Given the description of an element on the screen output the (x, y) to click on. 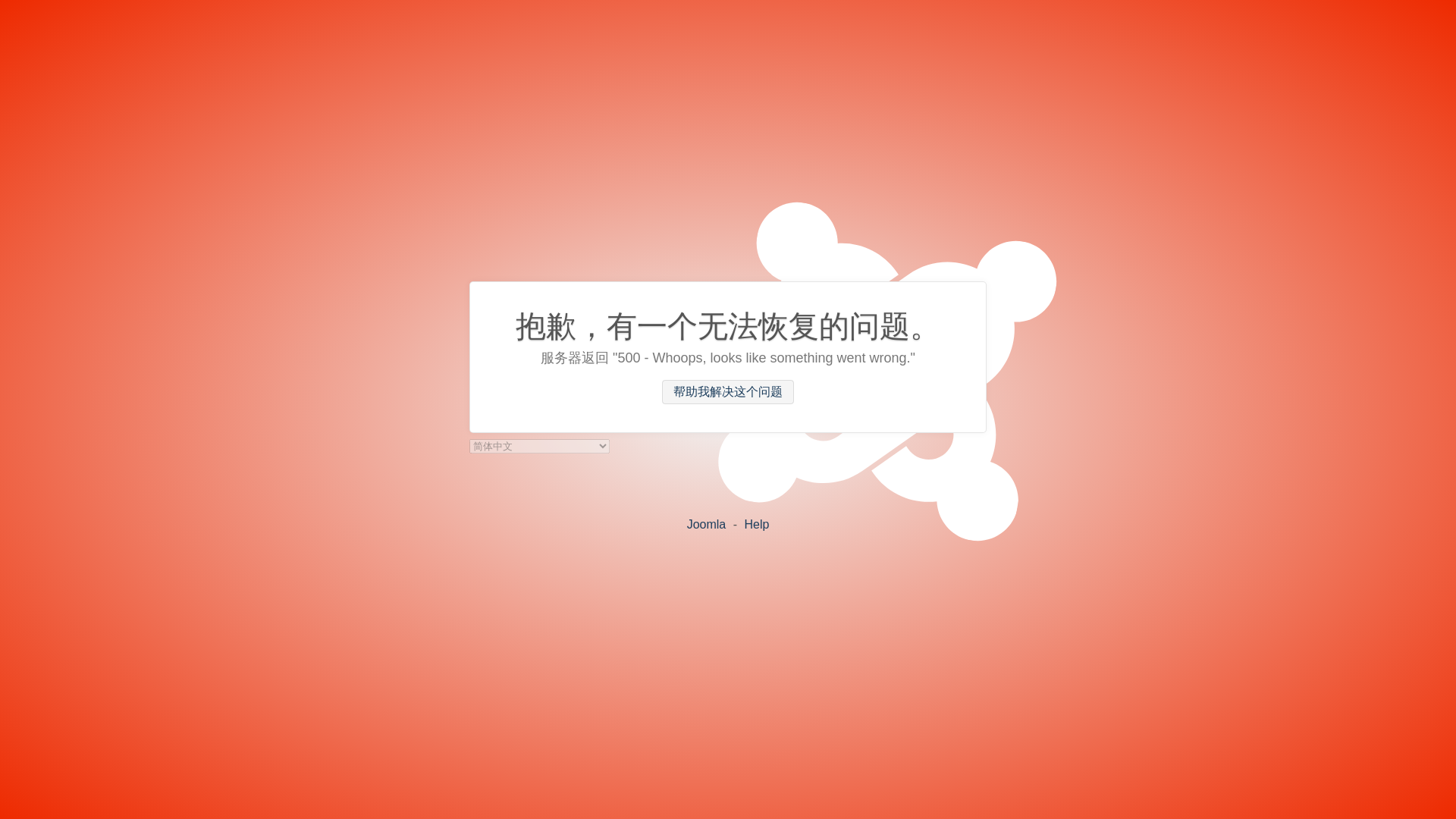
Help (756, 522)
Joomla (706, 522)
